Given the description of an element on the screen output the (x, y) to click on. 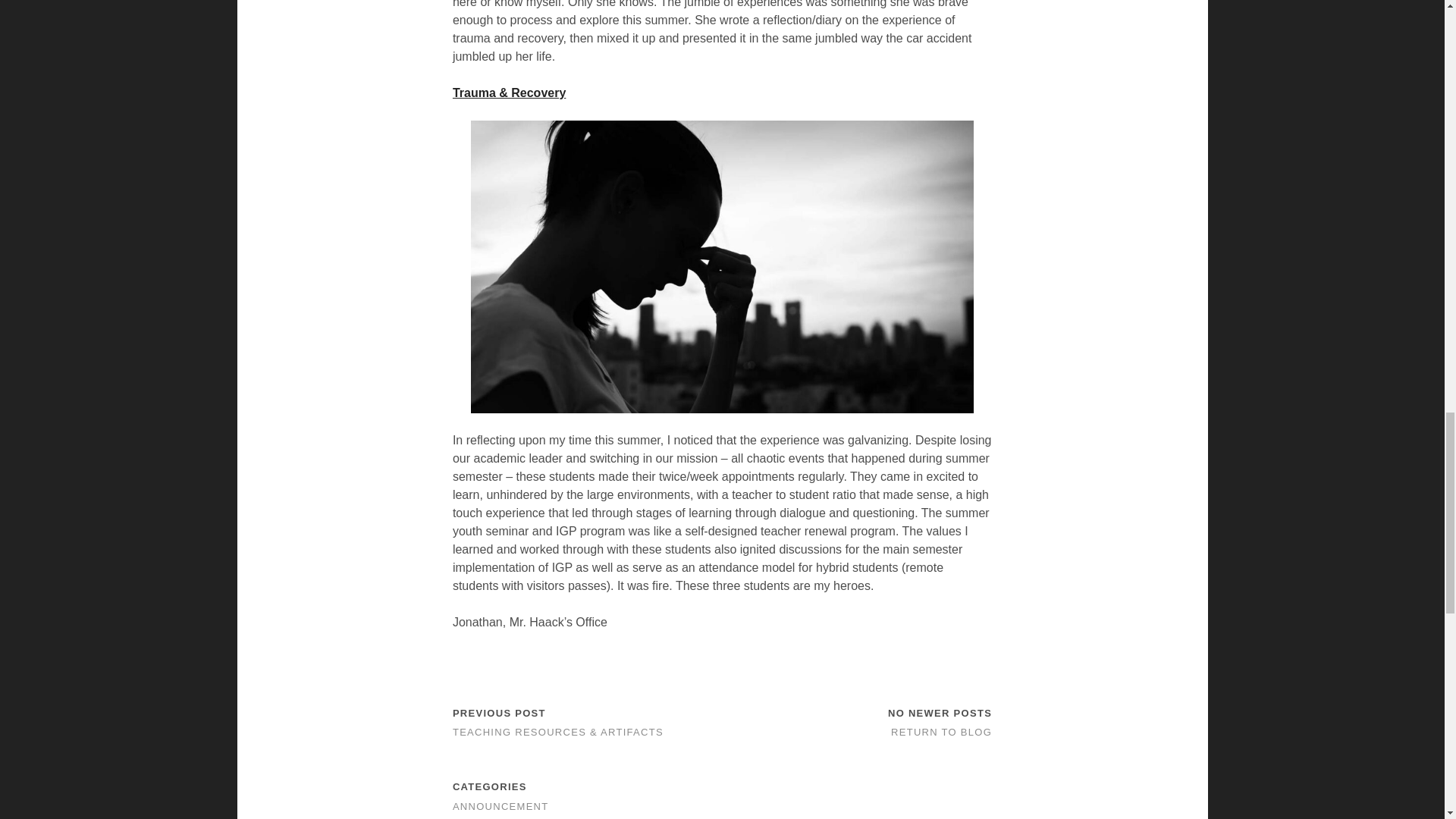
RETURN TO BLOG (941, 731)
ANNOUNCEMENT (500, 806)
View all posts in announcement (500, 806)
